Given the description of an element on the screen output the (x, y) to click on. 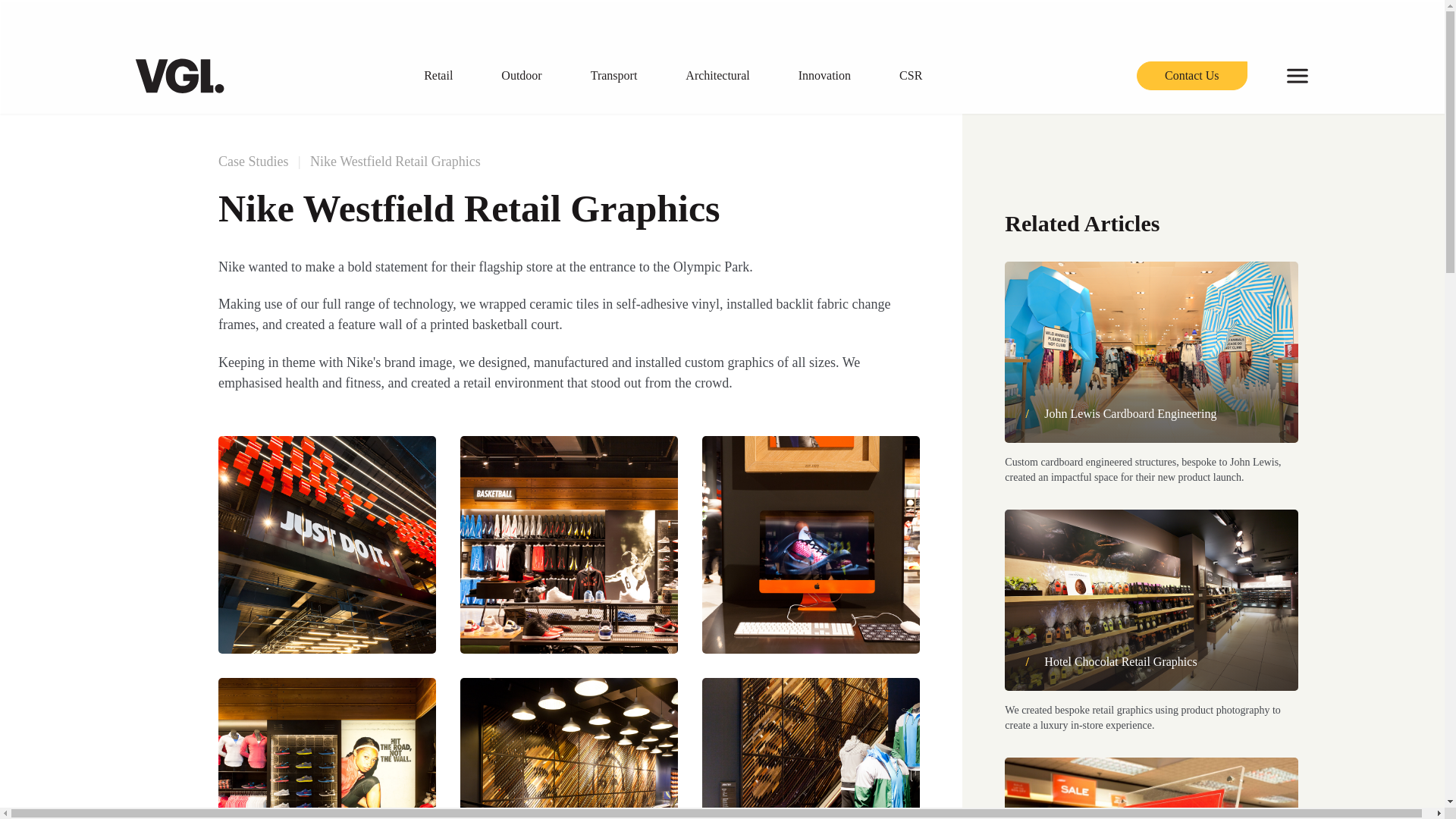
Innovation (842, 75)
Outdoor (539, 75)
CSR (928, 75)
Retail (456, 75)
Architectural (735, 75)
Contact Us (1192, 75)
Transport (632, 75)
